Given the description of an element on the screen output the (x, y) to click on. 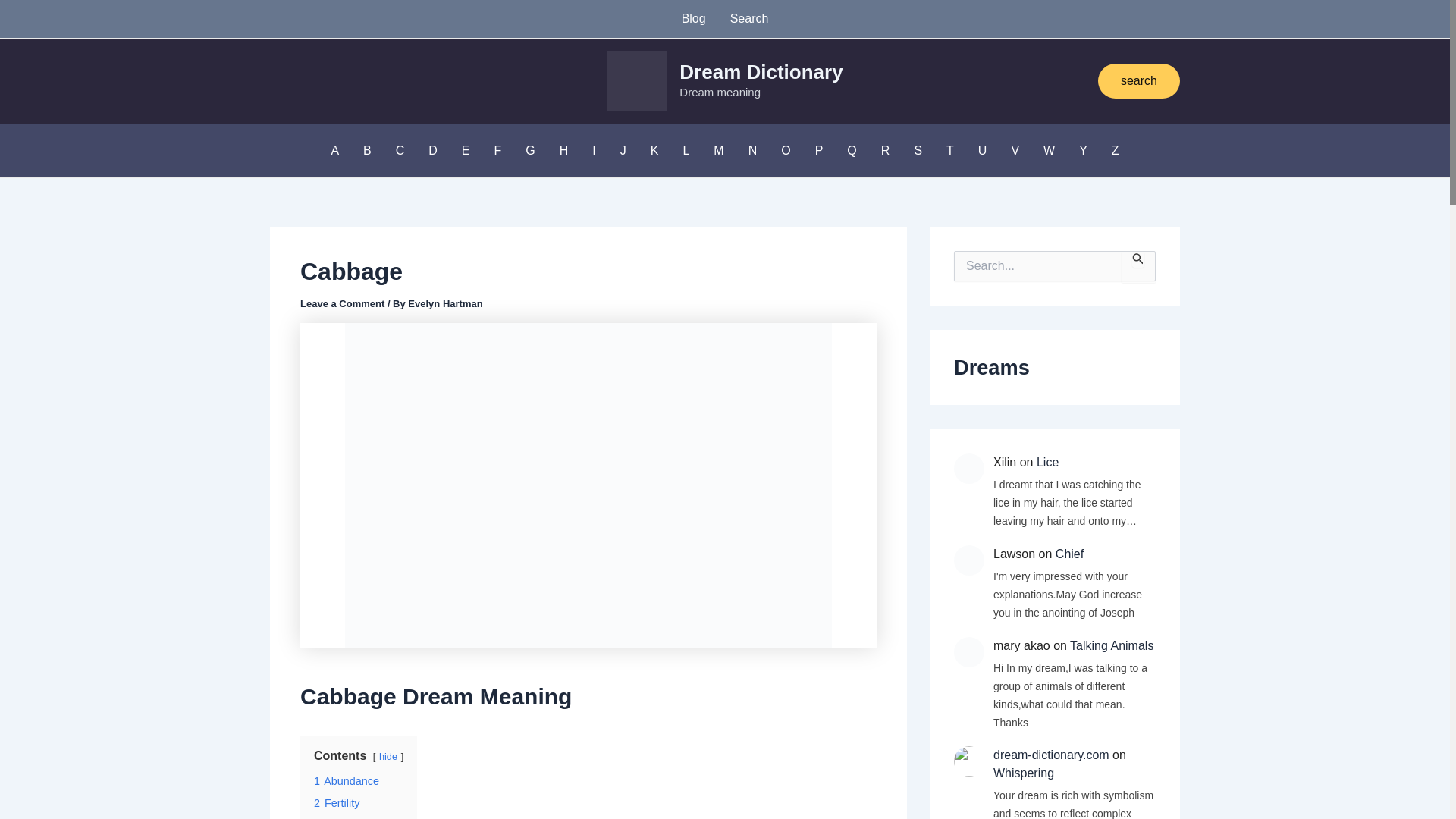
Search (748, 18)
Search (1138, 266)
Search (1138, 266)
Dream Dictionary (761, 71)
Blog (693, 18)
View all posts by Evelyn Hartman (444, 303)
search (1138, 80)
